Given the description of an element on the screen output the (x, y) to click on. 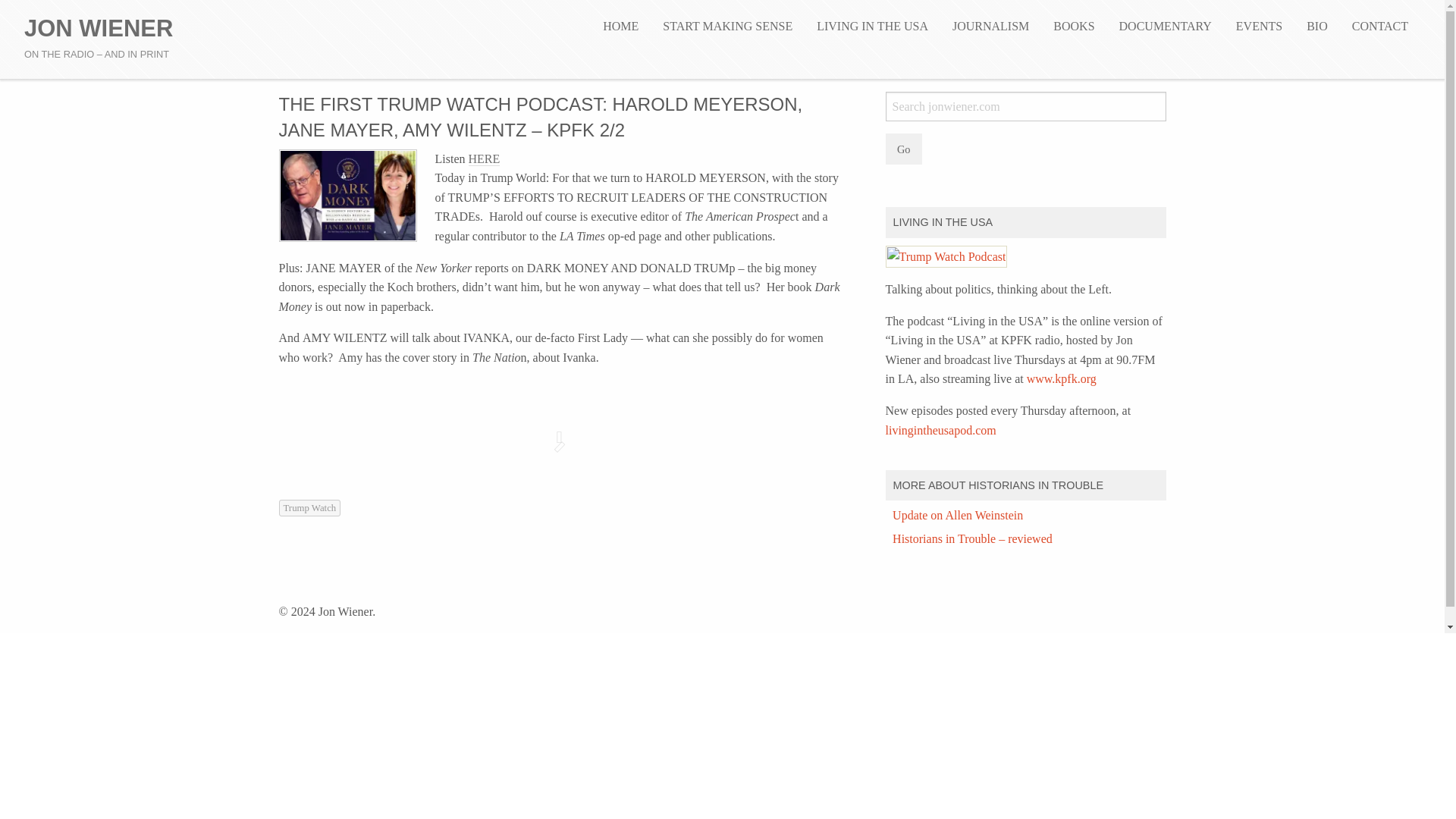
JON WIENER (98, 28)
BIO (1316, 26)
LIVING IN THE USA (872, 26)
www.kpfk.org (1061, 378)
BOOKS (1073, 26)
Trump Watch (309, 507)
HERE (484, 159)
Go (903, 148)
Go (903, 148)
JOURNALISM (990, 26)
